Given the description of an element on the screen output the (x, y) to click on. 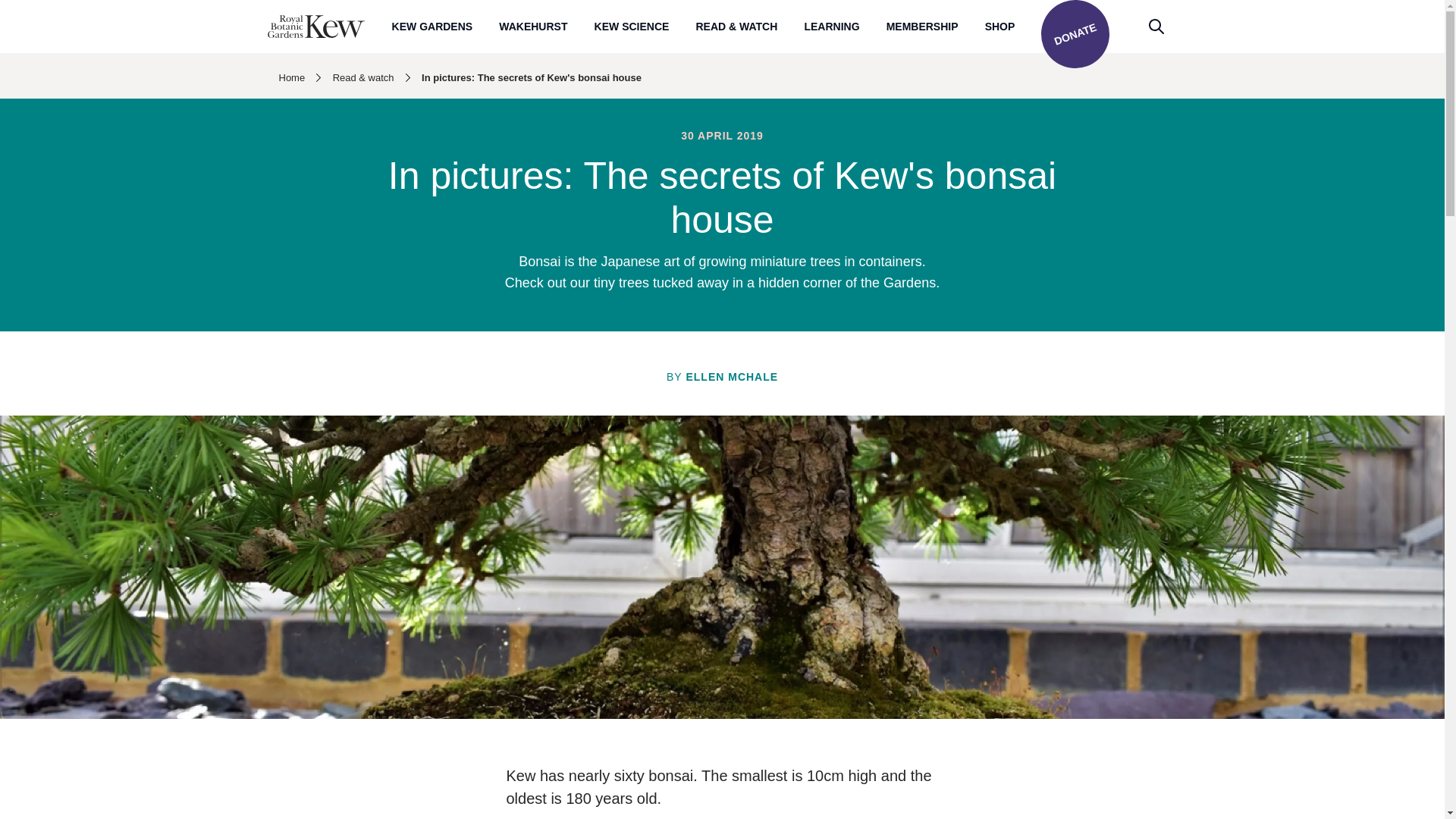
LEARNING (831, 26)
WAKEHURST (533, 26)
Wakehurst (533, 26)
KEW GARDENS (432, 26)
KEW SCIENCE (631, 26)
Kew Gardens (432, 26)
Kew Science (631, 26)
MEMBERSHIP (922, 26)
